Given the description of an element on the screen output the (x, y) to click on. 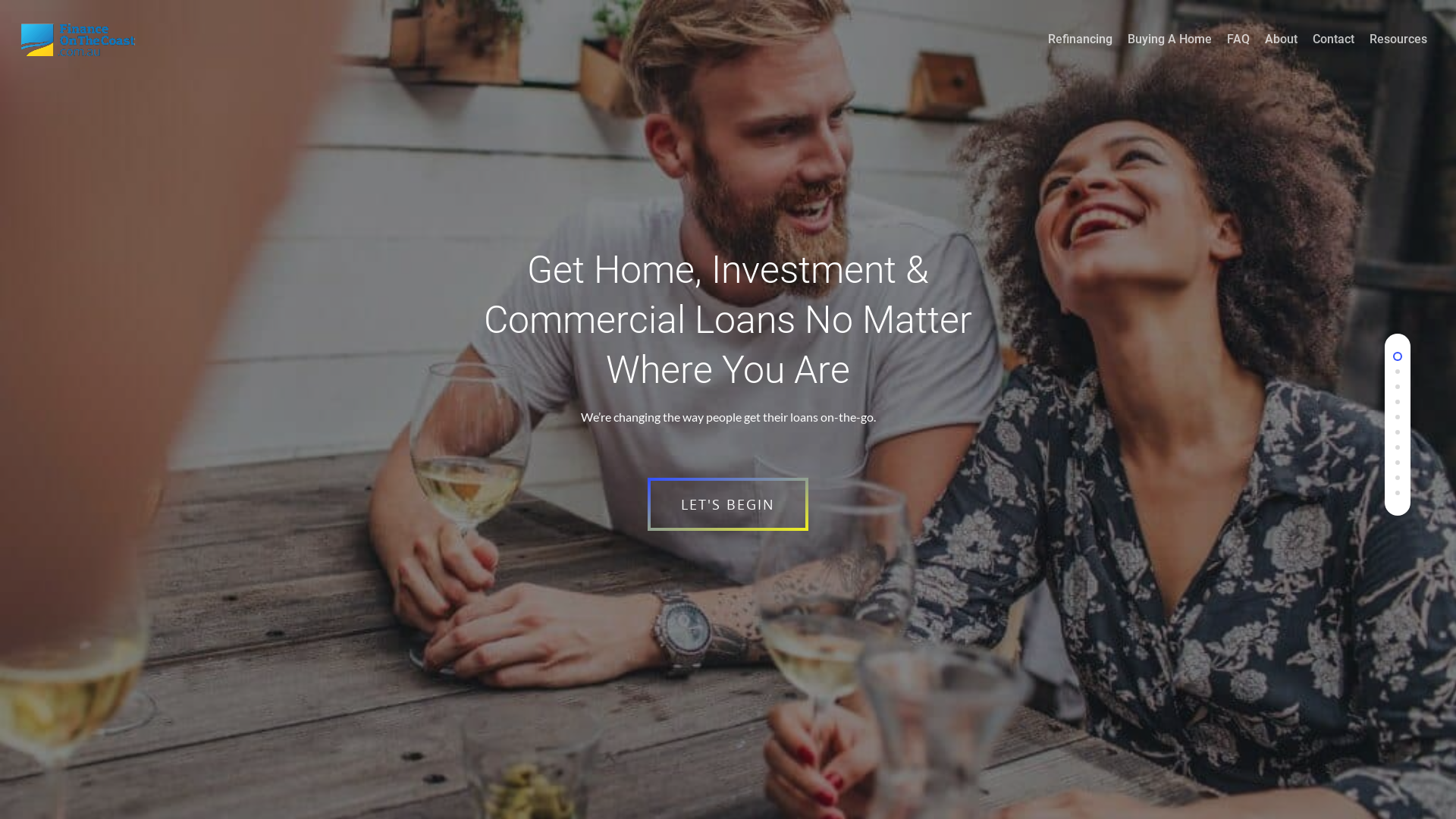
LET'S BEGIN Element type: text (727, 503)
Refinancing Element type: text (1080, 49)
About Element type: text (1280, 49)
Buying A Home Element type: text (1169, 49)
FAQ Element type: text (1237, 49)
Resources Element type: text (1398, 49)
Contact Element type: text (1333, 49)
